Given the description of an element on the screen output the (x, y) to click on. 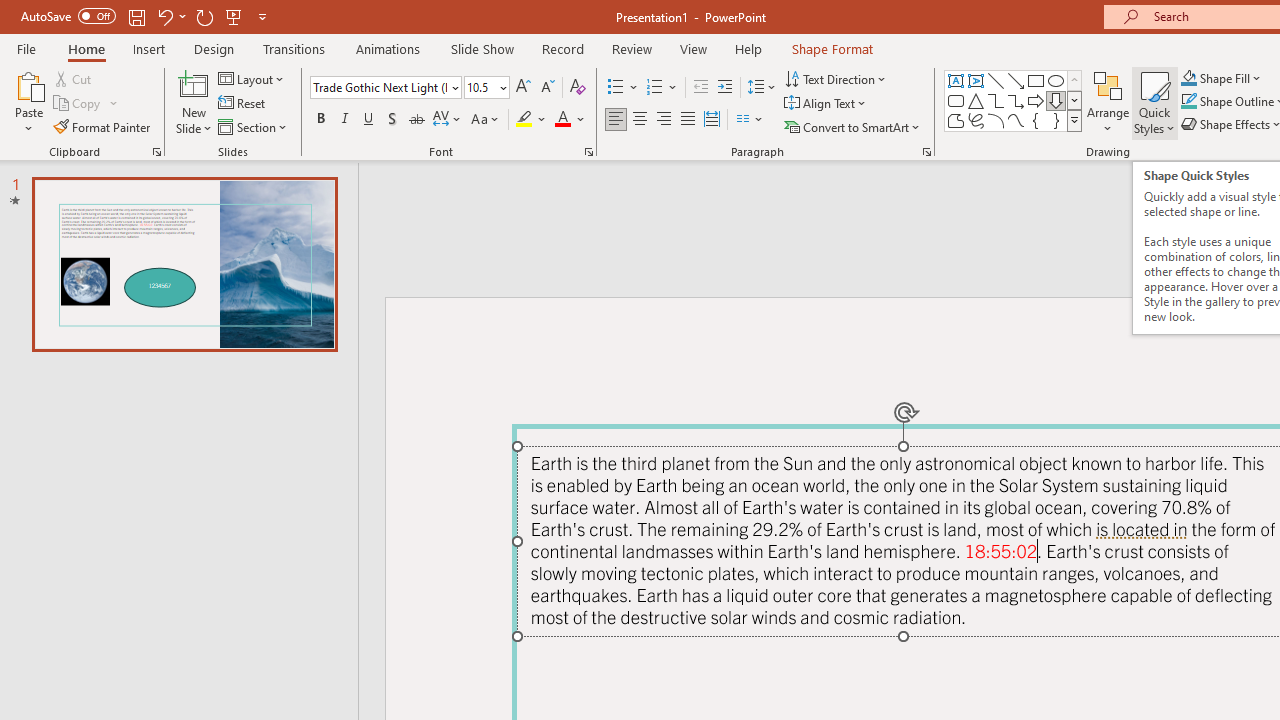
Character Spacing (447, 119)
Freeform: Scribble (975, 120)
Decrease Font Size (547, 87)
Quick Styles (1154, 102)
Shadow (392, 119)
